Given the description of an element on the screen output the (x, y) to click on. 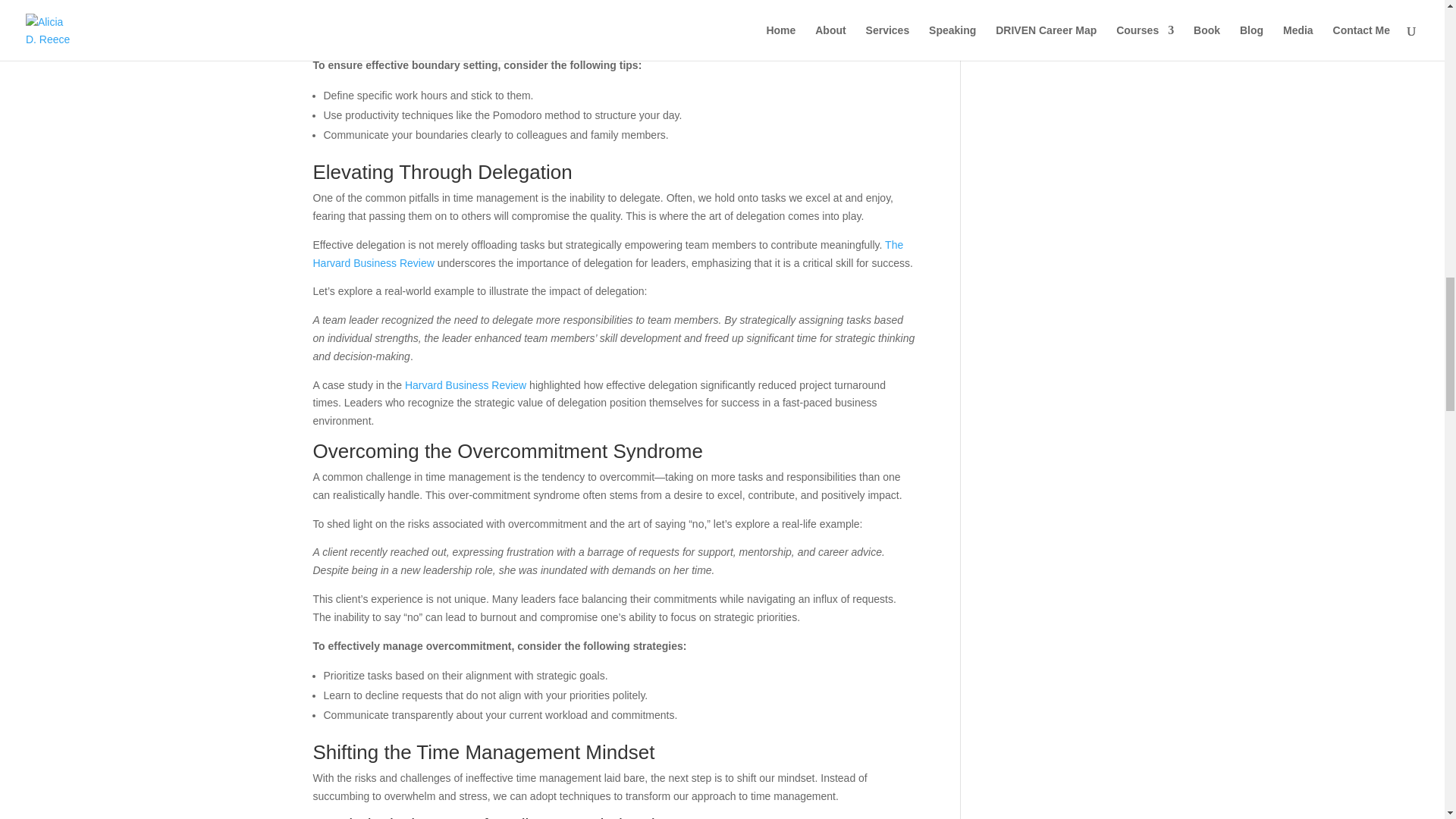
The Harvard Business Review (607, 254)
Harvard Business Review (464, 385)
